Given the description of an element on the screen output the (x, y) to click on. 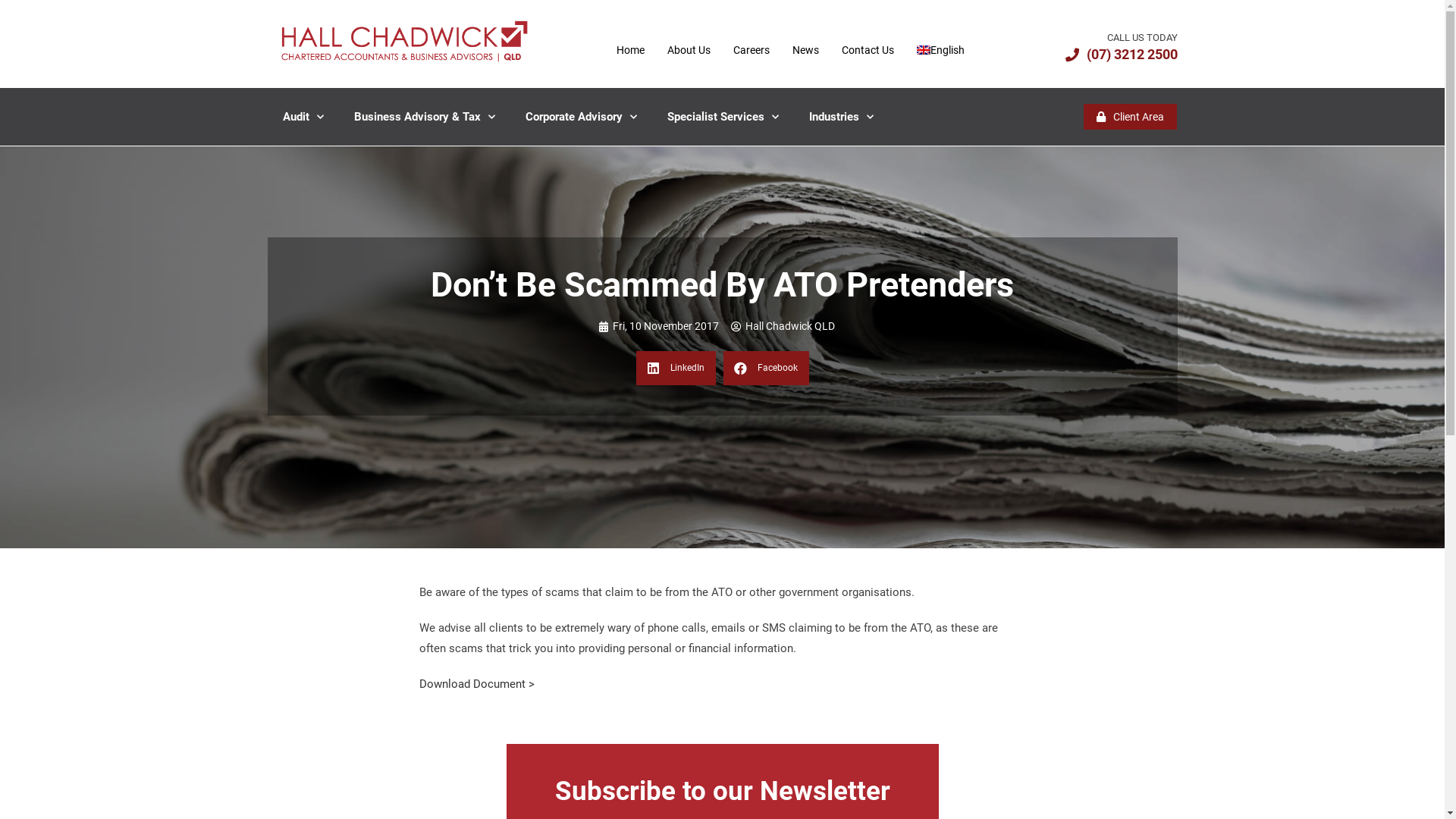
Industries Element type: text (840, 116)
Fri, 10 November 2017 Element type: text (657, 325)
About Us Element type: text (688, 49)
Northern Territory Element type: text (1051, 578)
Hall Chadwick QLD Element type: text (782, 325)
Victoria Element type: text (1051, 536)
Privacy Policy Element type: text (914, 756)
Financial Services Guide Element type: text (1124, 756)
New South Wales Element type: text (1051, 515)
Careers Element type: text (751, 49)
English Element type: text (940, 49)
(07) 3212 2500 Element type: text (1120, 54)
South Australia Element type: text (1051, 600)
Home Element type: text (630, 49)
Audit Element type: text (302, 116)
Our Locations Element type: text (368, 536)
Small Business Energy Incentive Element type: text (569, 548)
Business Advisory & Tax Element type: text (423, 116)
UPE and Division 7A Element type: text (541, 525)
Sign Up Element type: text (762, 651)
Contact Us Element type: text (867, 49)
Disclaimer Element type: text (983, 756)
Queensland Element type: text (1051, 494)
Corporate Advisory Element type: text (580, 116)
Client Area Element type: text (1129, 116)
Director Penalty Notices Element type: text (550, 594)
ATO Scammers Element type: text (530, 502)
Our People Element type: text (368, 515)
News Element type: text (805, 49)
Specialist Services Element type: text (722, 116)
Christmas Tax Considerations Element type: text (564, 571)
Western Australia Element type: text (1051, 557)
About Us Element type: text (368, 494)
Client Area Element type: text (368, 557)
Contact Us Element type: text (368, 578)
Download Document > Element type: text (475, 683)
Sitemap Element type: text (1038, 756)
